Given the description of an element on the screen output the (x, y) to click on. 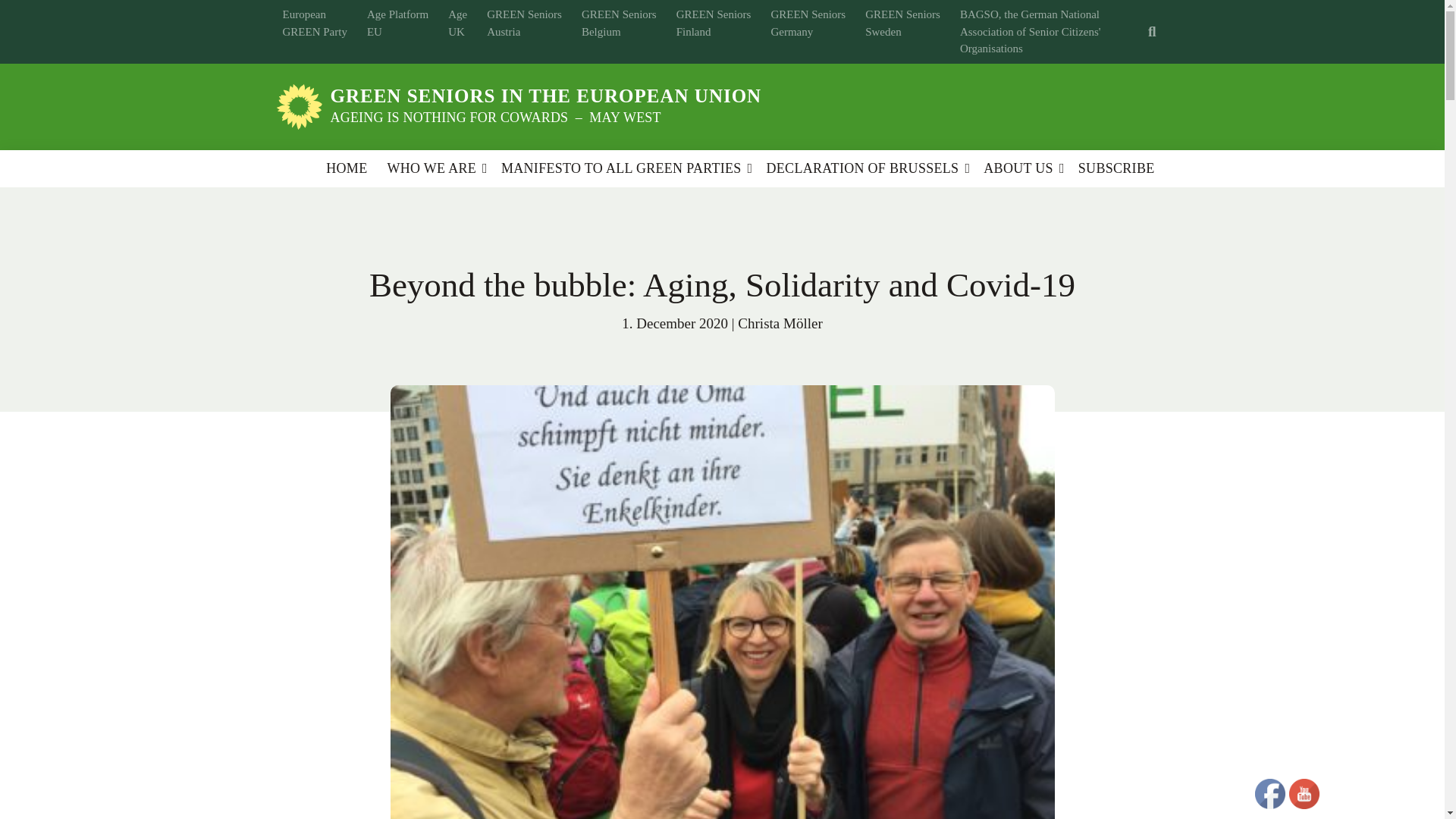
GREEN Seniors Sweden (902, 22)
HOME (346, 168)
Home (346, 168)
GREEN Seniors Austria (523, 22)
SUBSCRIBE (1116, 168)
Who we are (431, 168)
GREEN Seniors Finland (713, 22)
GREEN Seniors Germany (807, 22)
Age Platform EU (397, 22)
ABOUT US (1018, 168)
GREEN SENIORS IN THE EUROPEAN UNION (545, 96)
MANIFESTO TO ALL GREEN PARTIES (620, 168)
GREEN Seniors Belgium (618, 22)
DECLARATION OF BRUSSELS (861, 168)
